Given the description of an element on the screen output the (x, y) to click on. 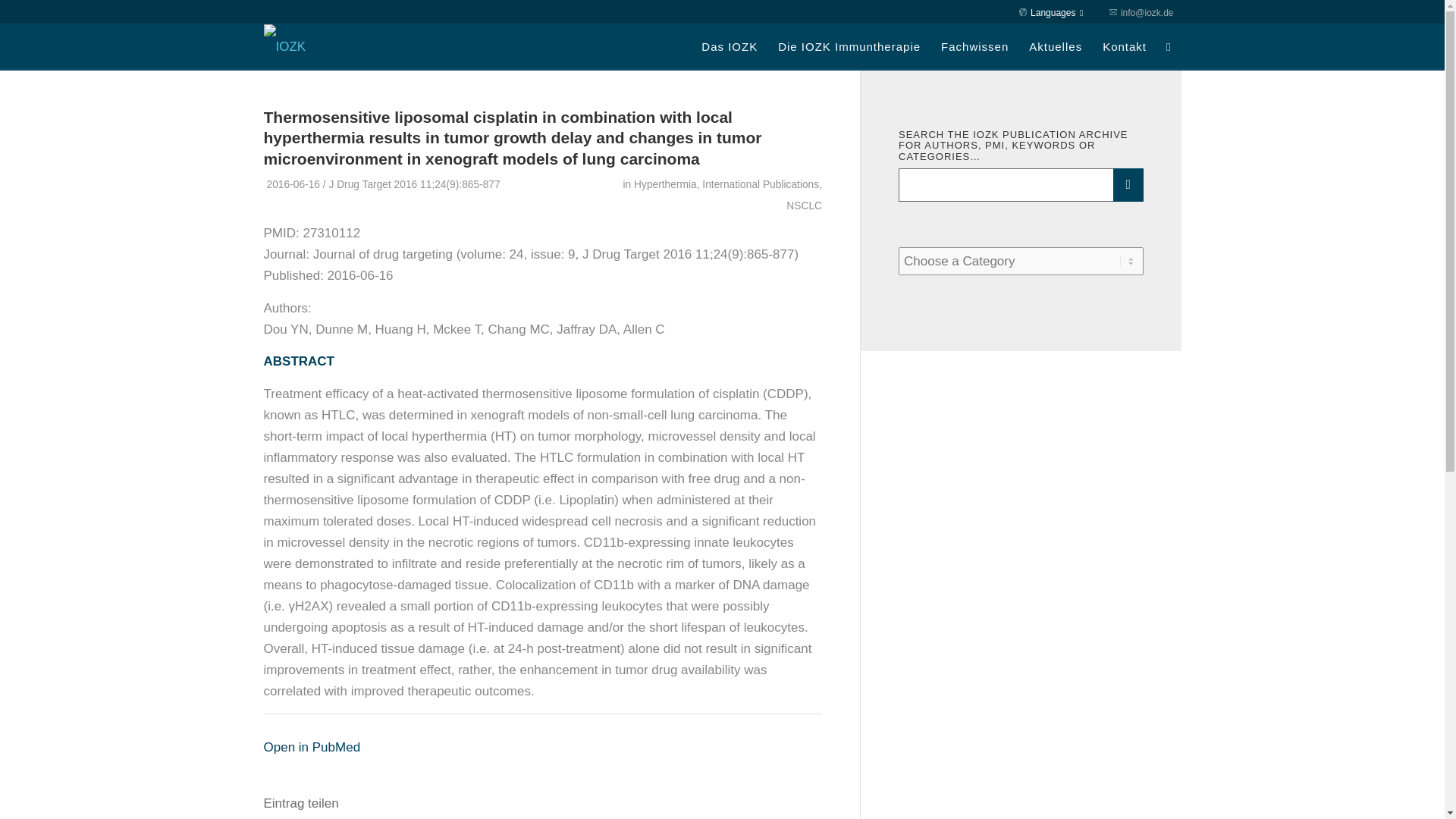
Das IOZK (728, 46)
International Publications (759, 184)
Die IOZK Immuntherapie (848, 46)
Aktuelles (1054, 46)
Fachwissen (973, 46)
Kontakt (1124, 46)
Hyperthermia (665, 184)
